Given the description of an element on the screen output the (x, y) to click on. 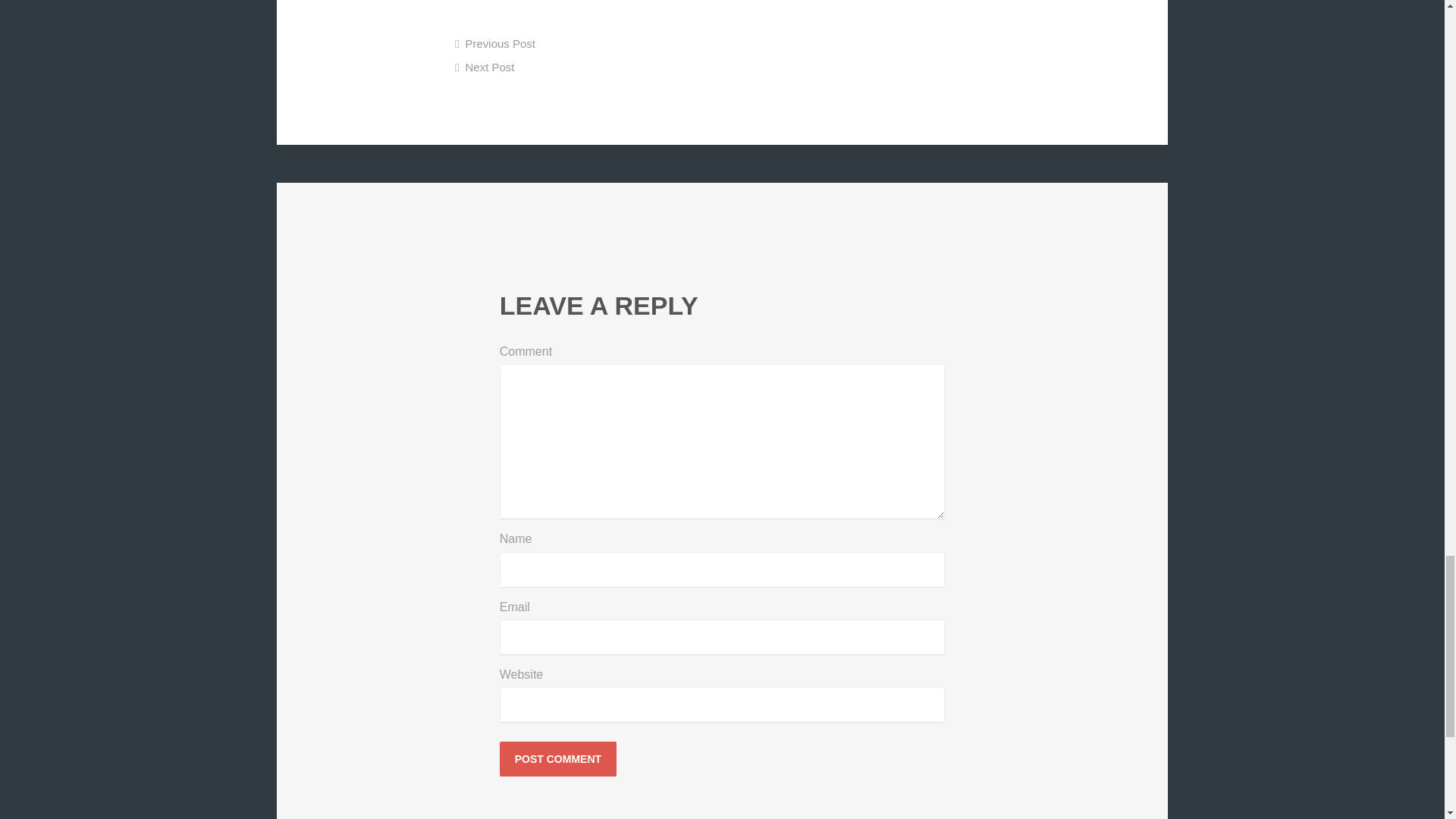
Previous Post (494, 42)
Post Comment (557, 759)
Next Post (484, 66)
Post Comment (557, 759)
